Given the description of an element on the screen output the (x, y) to click on. 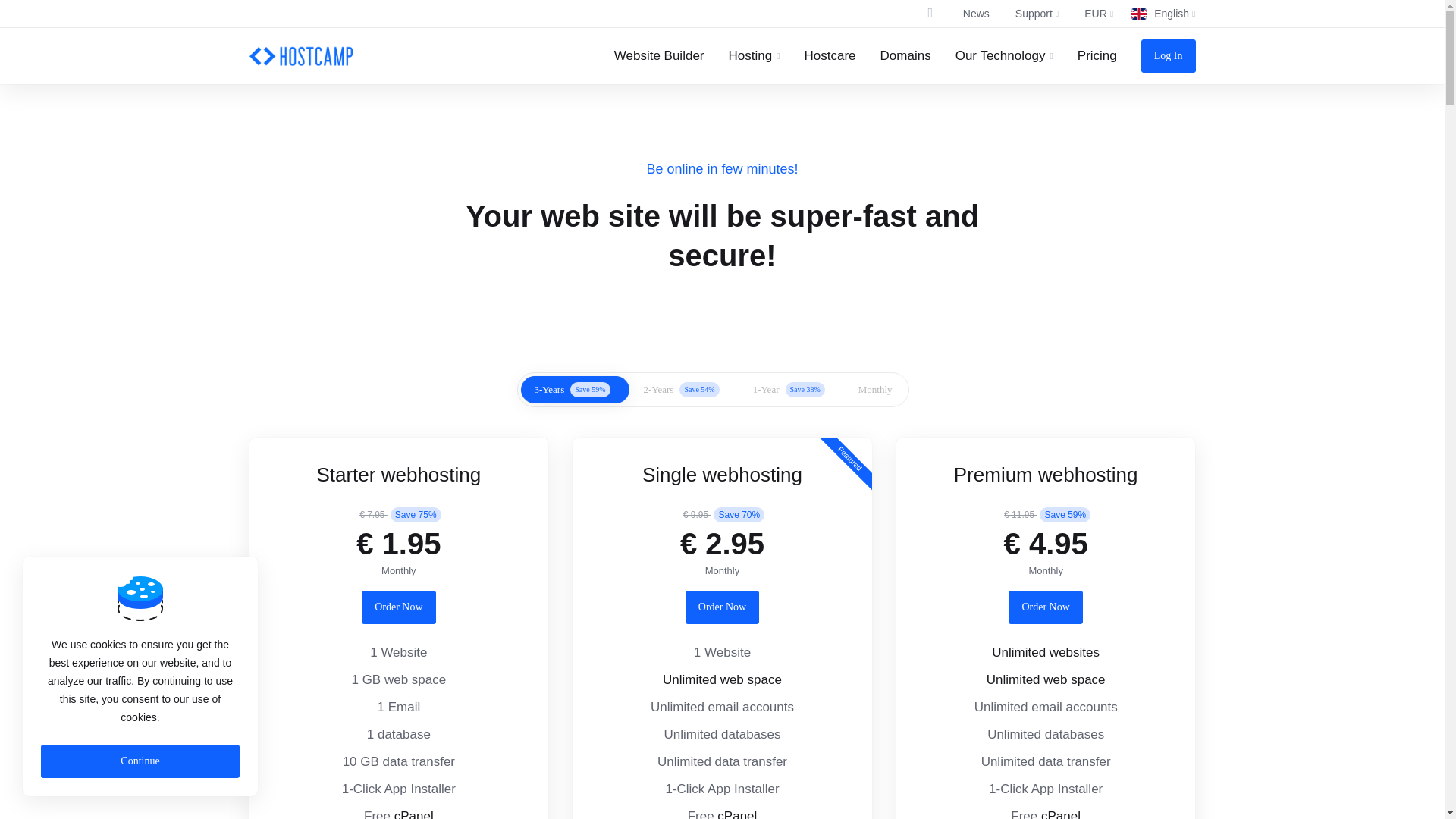
English (1163, 13)
Support (1032, 13)
News (972, 13)
Hostcamp Europe (300, 56)
EUR (1094, 13)
